Given the description of an element on the screen output the (x, y) to click on. 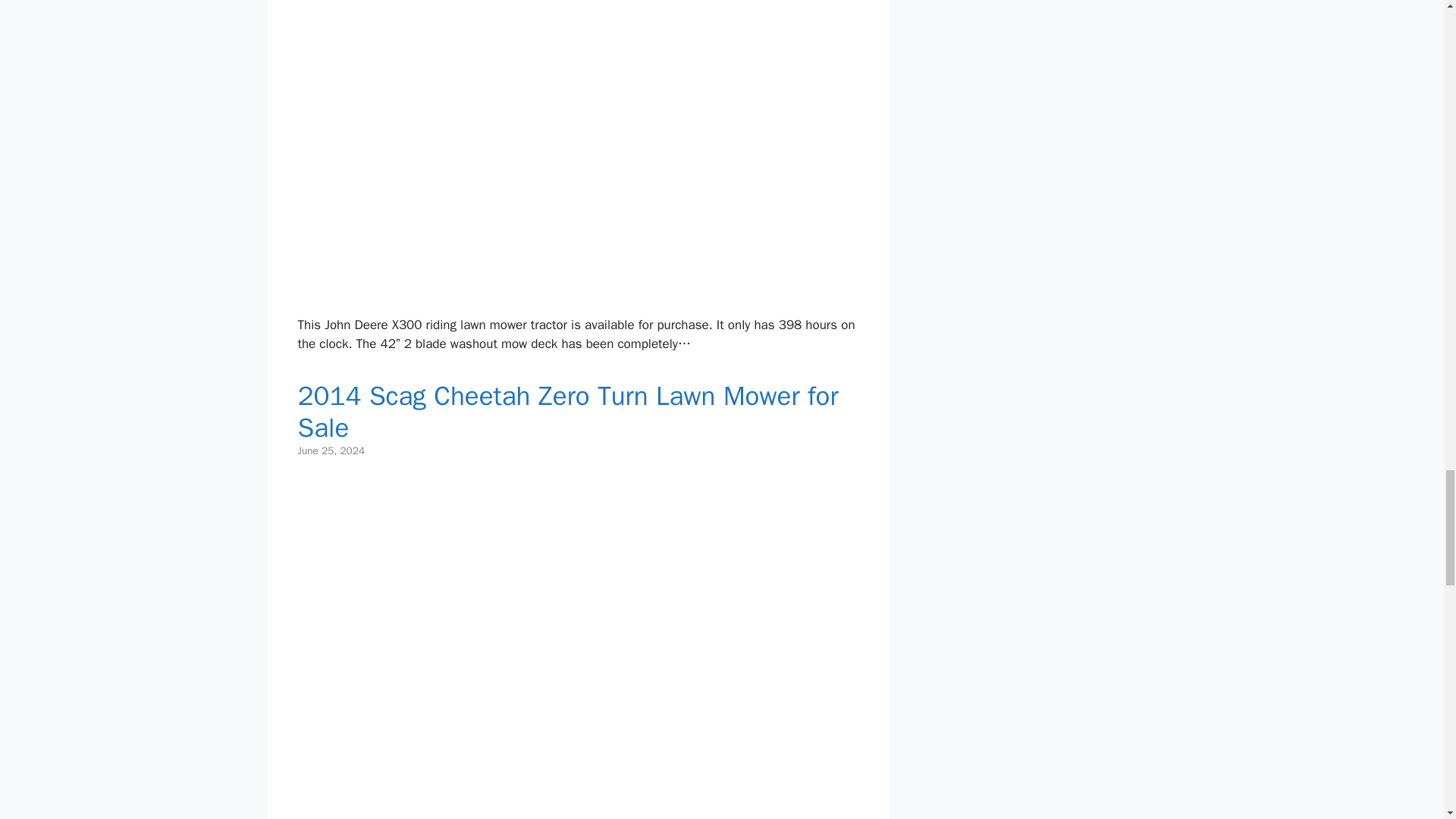
8:15 pm (331, 450)
